Given the description of an element on the screen output the (x, y) to click on. 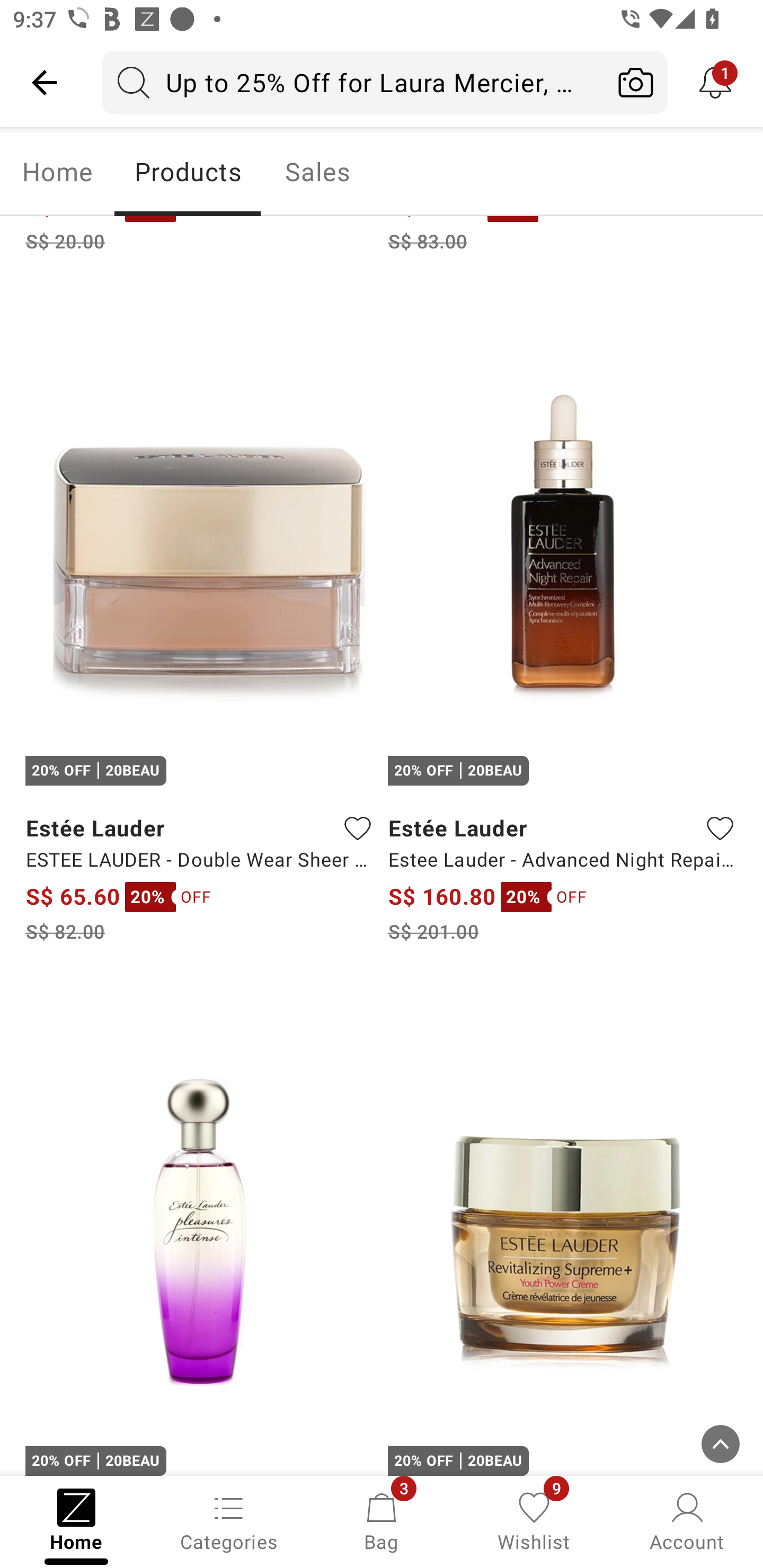
Navigate up (44, 82)
Home (57, 171)
Sales (317, 171)
20% OFF 20BEAU (200, 1228)
20% OFF 20BEAU (562, 1228)
Categories (228, 1519)
Bag, 3 new notifications Bag (381, 1519)
Wishlist, 9 new notifications Wishlist (533, 1519)
Account (686, 1519)
